Given the description of an element on the screen output the (x, y) to click on. 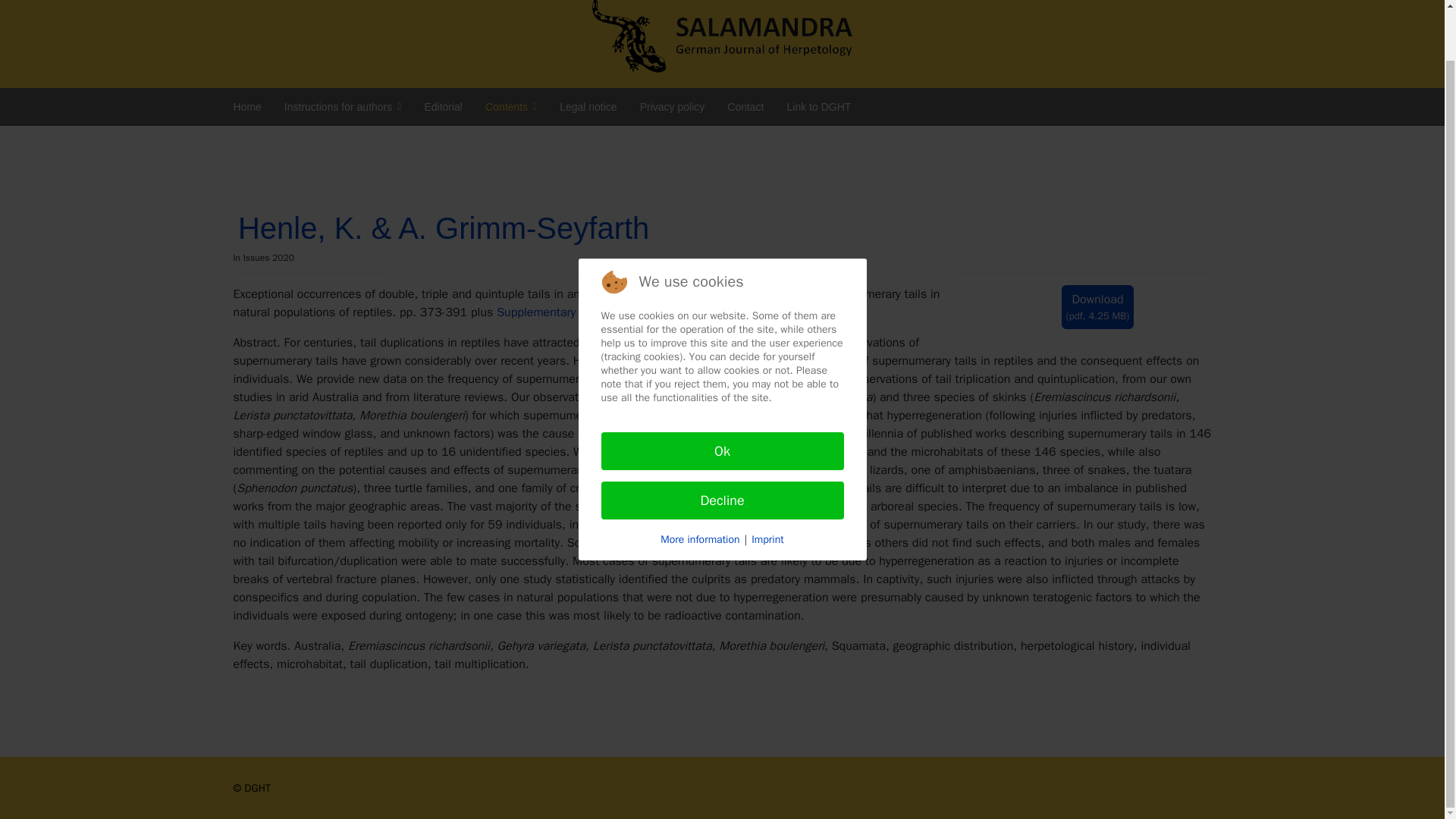
Instructions for authors (343, 106)
Home (246, 106)
Editorial (443, 106)
Contents (511, 106)
